Given the description of an element on the screen output the (x, y) to click on. 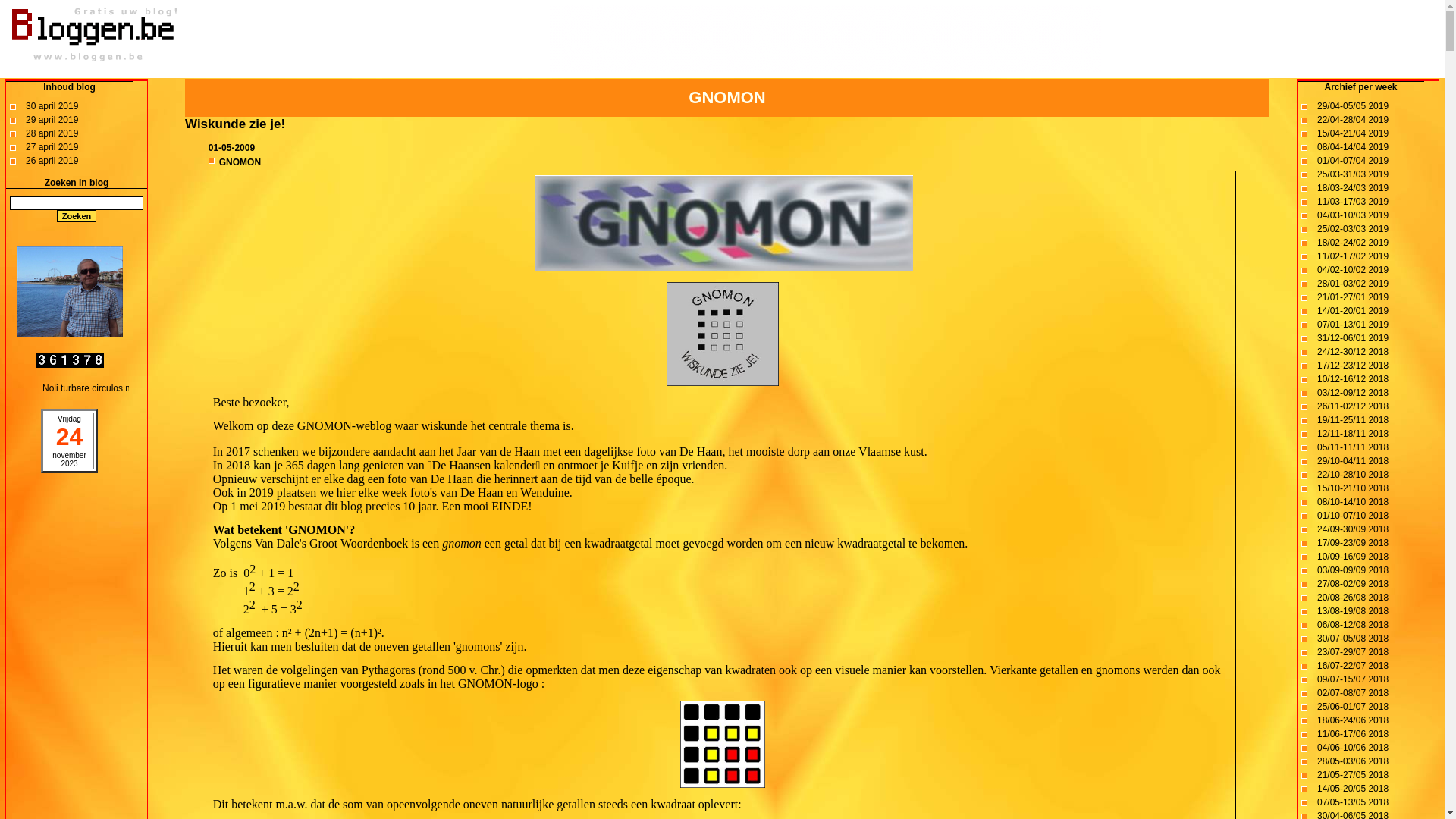
14/01-20/01 2019 Element type: text (1352, 310)
28/01-03/02 2019 Element type: text (1352, 283)
25/02-03/03 2019 Element type: text (1352, 228)
27 april 2019 Element type: text (51, 146)
07/01-13/01 2019 Element type: text (1352, 324)
Zoeken Element type: text (76, 216)
26/11-02/12 2018 Element type: text (1352, 406)
22/10-28/10 2018 Element type: text (1352, 474)
04/06-10/06 2018 Element type: text (1352, 747)
18/06-24/06 2018 Element type: text (1352, 720)
25/03-31/03 2019 Element type: text (1352, 174)
03/12-09/12 2018 Element type: text (1352, 392)
31/12-06/01 2019 Element type: text (1352, 337)
03/09-09/09 2018 Element type: text (1352, 569)
17/12-23/12 2018 Element type: text (1352, 365)
01/04-07/04 2019 Element type: text (1352, 160)
11/06-17/06 2018 Element type: text (1352, 733)
15/04-21/04 2019 Element type: text (1352, 133)
28/05-03/06 2018 Element type: text (1352, 761)
30/07-05/08 2018 Element type: text (1352, 638)
04/03-10/03 2019 Element type: text (1352, 215)
15/10-21/10 2018 Element type: text (1352, 488)
25/06-01/07 2018 Element type: text (1352, 706)
18/03-24/03 2019 Element type: text (1352, 187)
29/04-05/05 2019 Element type: text (1352, 105)
19/11-25/11 2018 Element type: text (1352, 419)
07/05-13/05 2018 Element type: text (1352, 802)
08/04-14/04 2019 Element type: text (1352, 146)
08/10-14/10 2018 Element type: text (1352, 501)
10/12-16/12 2018 Element type: text (1352, 378)
04/02-10/02 2019 Element type: text (1352, 269)
09/07-15/07 2018 Element type: text (1352, 679)
17/09-23/09 2018 Element type: text (1352, 542)
18/02-24/02 2019 Element type: text (1352, 242)
29 april 2019 Element type: text (51, 119)
29/10-04/11 2018 Element type: text (1352, 460)
05/11-11/11 2018 Element type: text (1352, 447)
16/07-22/07 2018 Element type: text (1352, 665)
21/05-27/05 2018 Element type: text (1352, 774)
26 april 2019 Element type: text (51, 160)
21/01-27/01 2019 Element type: text (1352, 296)
10/09-16/09 2018 Element type: text (1352, 556)
3rd party ad content Element type: hover (825, 37)
20/08-26/08 2018 Element type: text (1352, 597)
11/02-17/02 2019 Element type: text (1352, 256)
23/07-29/07 2018 Element type: text (1352, 651)
24/09-30/09 2018 Element type: text (1352, 529)
01/10-07/10 2018 Element type: text (1352, 515)
24/12-30/12 2018 Element type: text (1352, 351)
30 april 2019 Element type: text (51, 105)
06/08-12/08 2018 Element type: text (1352, 624)
27/08-02/09 2018 Element type: text (1352, 583)
13/08-19/08 2018 Element type: text (1352, 610)
02/07-08/07 2018 Element type: text (1352, 692)
28 april 2019 Element type: text (51, 133)
11/03-17/03 2019 Element type: text (1352, 201)
12/11-18/11 2018 Element type: text (1352, 433)
14/05-20/05 2018 Element type: text (1352, 788)
22/04-28/04 2019 Element type: text (1352, 119)
